Given the description of an element on the screen output the (x, y) to click on. 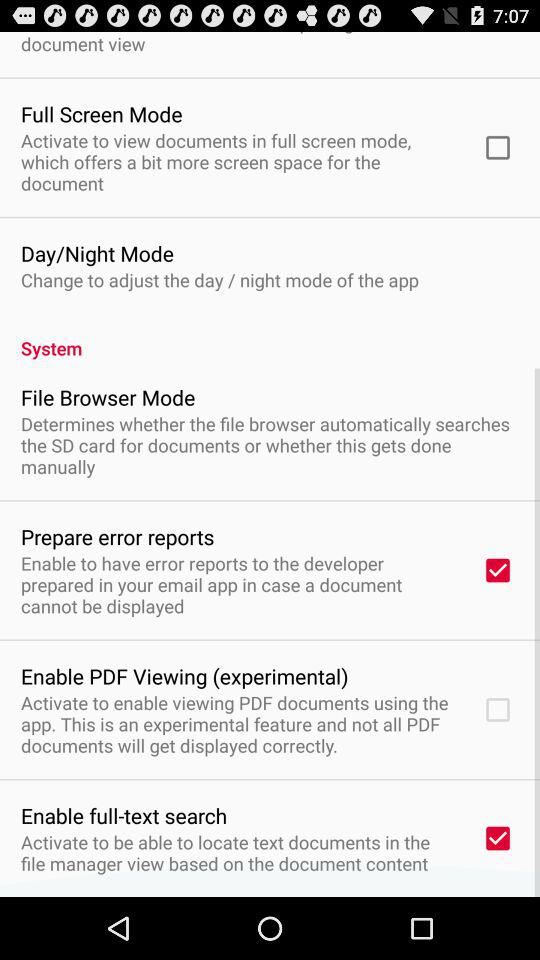
click the item below day/night mode (219, 279)
